Given the description of an element on the screen output the (x, y) to click on. 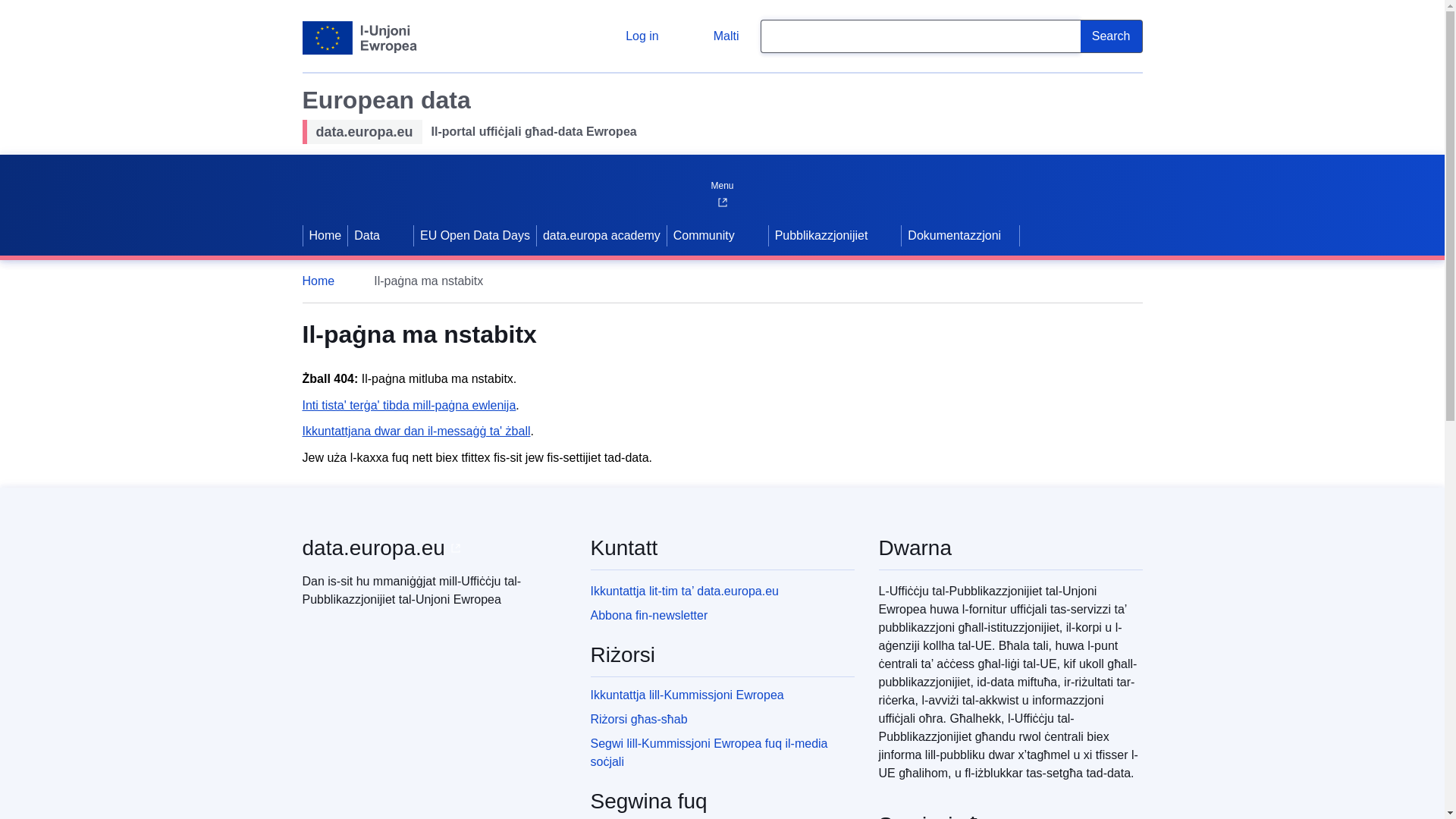
Home (324, 235)
Log in (630, 36)
data.europa academy (601, 235)
European Union (358, 37)
Search (1111, 36)
Dokumentazzjoni (960, 235)
Community (702, 235)
EU Open Data Days (474, 235)
Malti (714, 36)
